Given the description of an element on the screen output the (x, y) to click on. 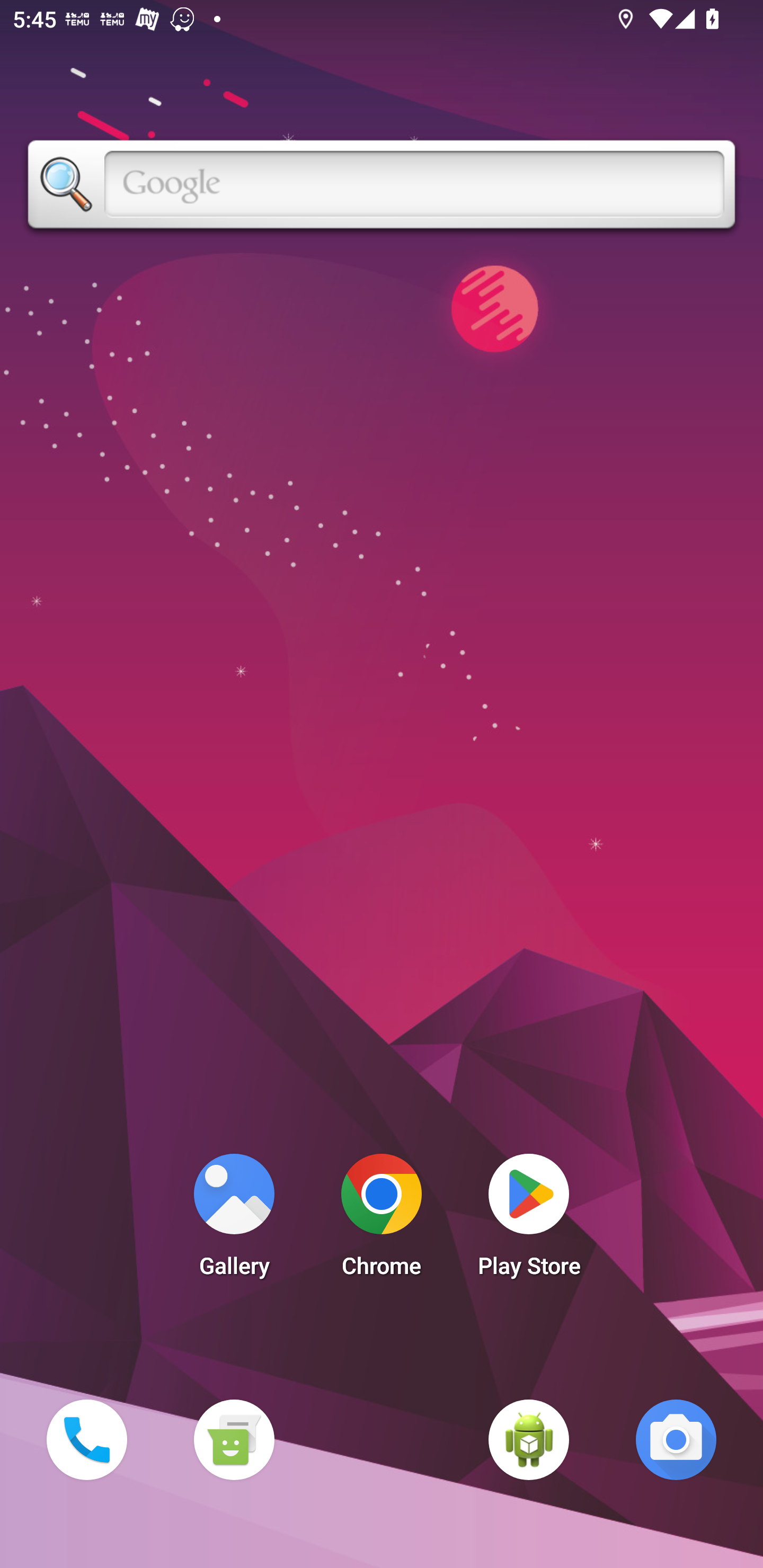
Gallery (233, 1220)
Chrome (381, 1220)
Play Store (528, 1220)
Phone (86, 1439)
Messaging (233, 1439)
WebView Browser Tester (528, 1439)
Camera (676, 1439)
